Given the description of an element on the screen output the (x, y) to click on. 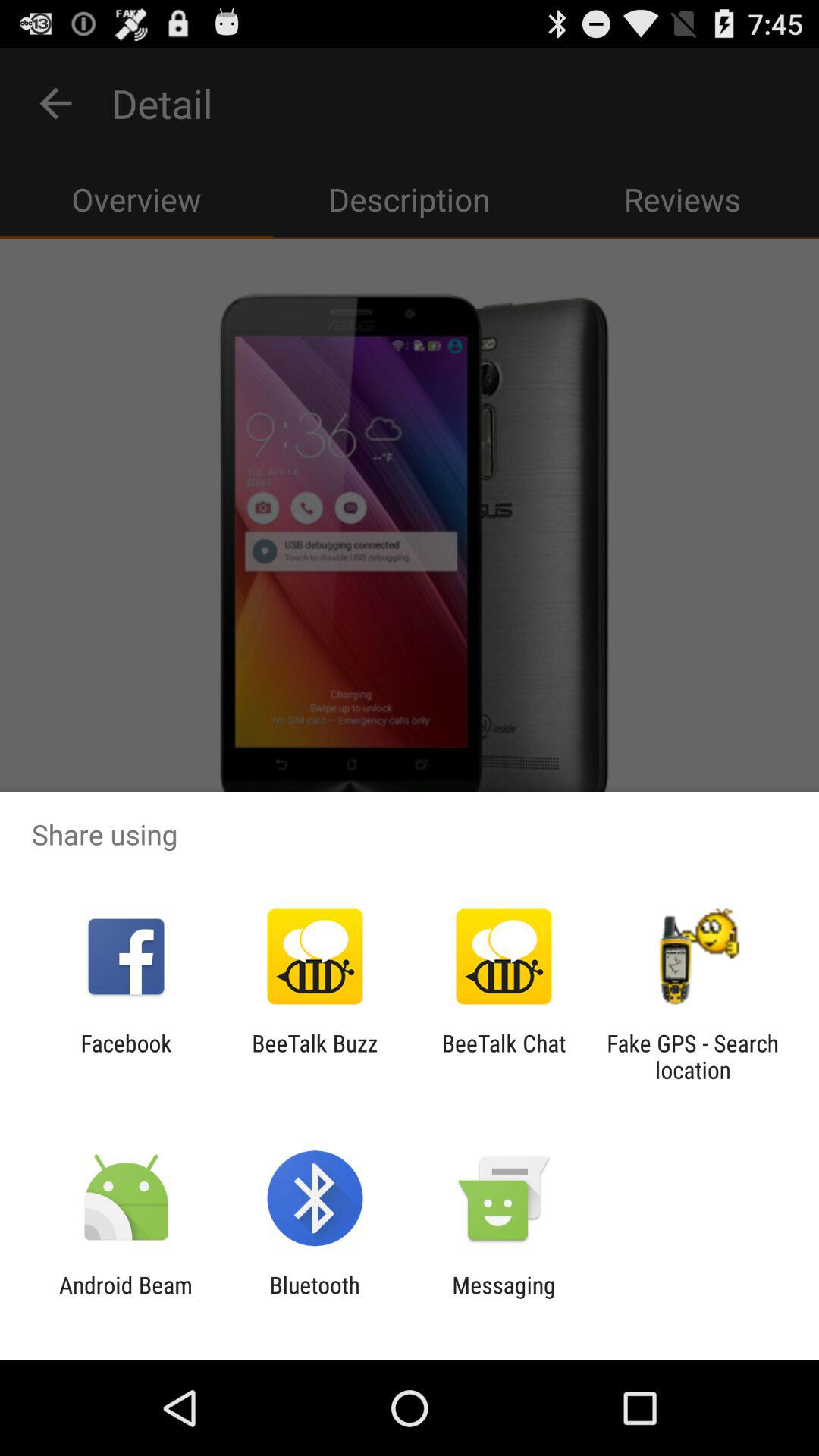
tap the android beam (125, 1298)
